Given the description of an element on the screen output the (x, y) to click on. 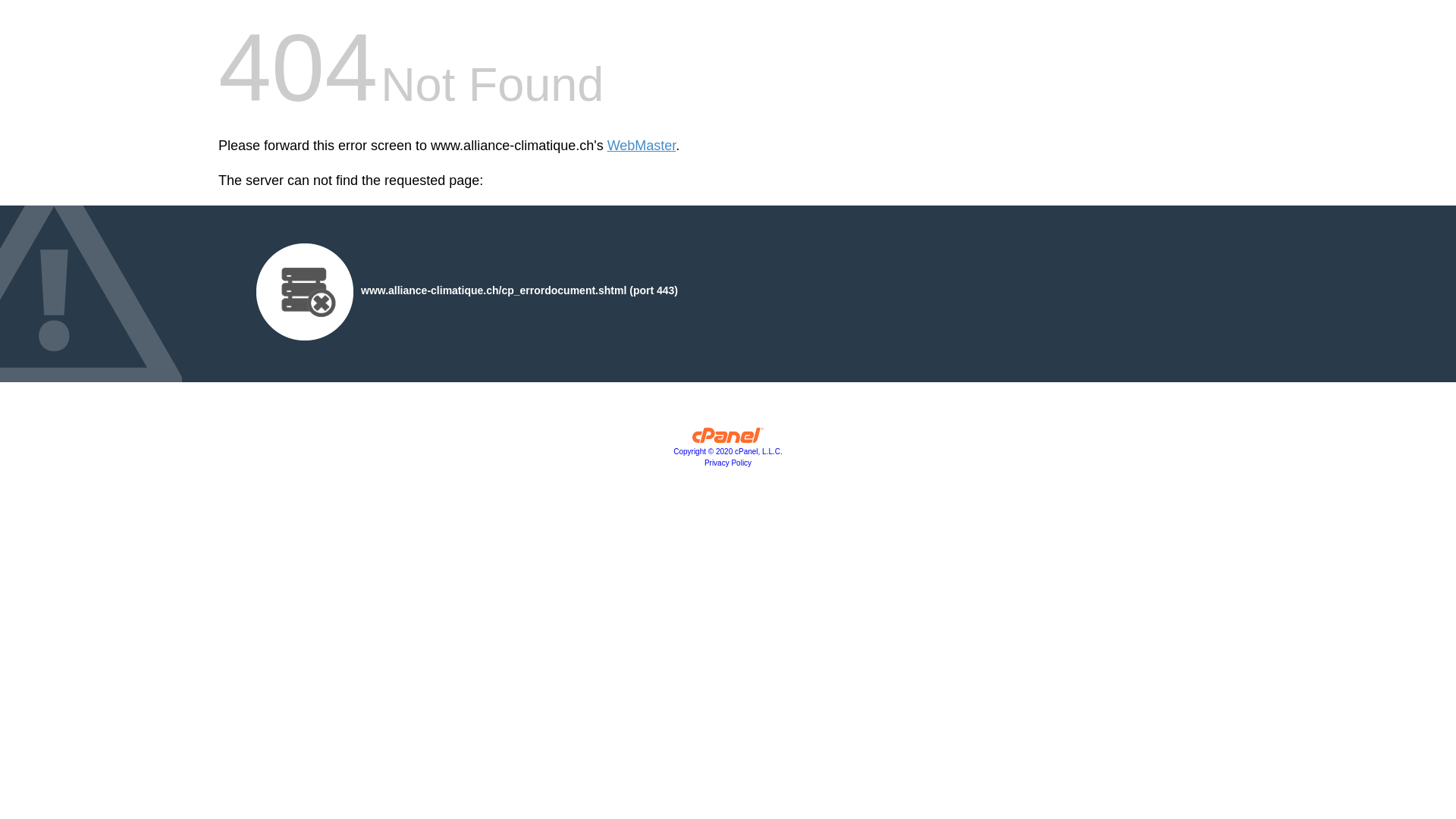
WebMaster Element type: text (641, 145)
Privacy Policy Element type: text (727, 462)
cPanel, Inc. Element type: hover (728, 439)
